Given the description of an element on the screen output the (x, y) to click on. 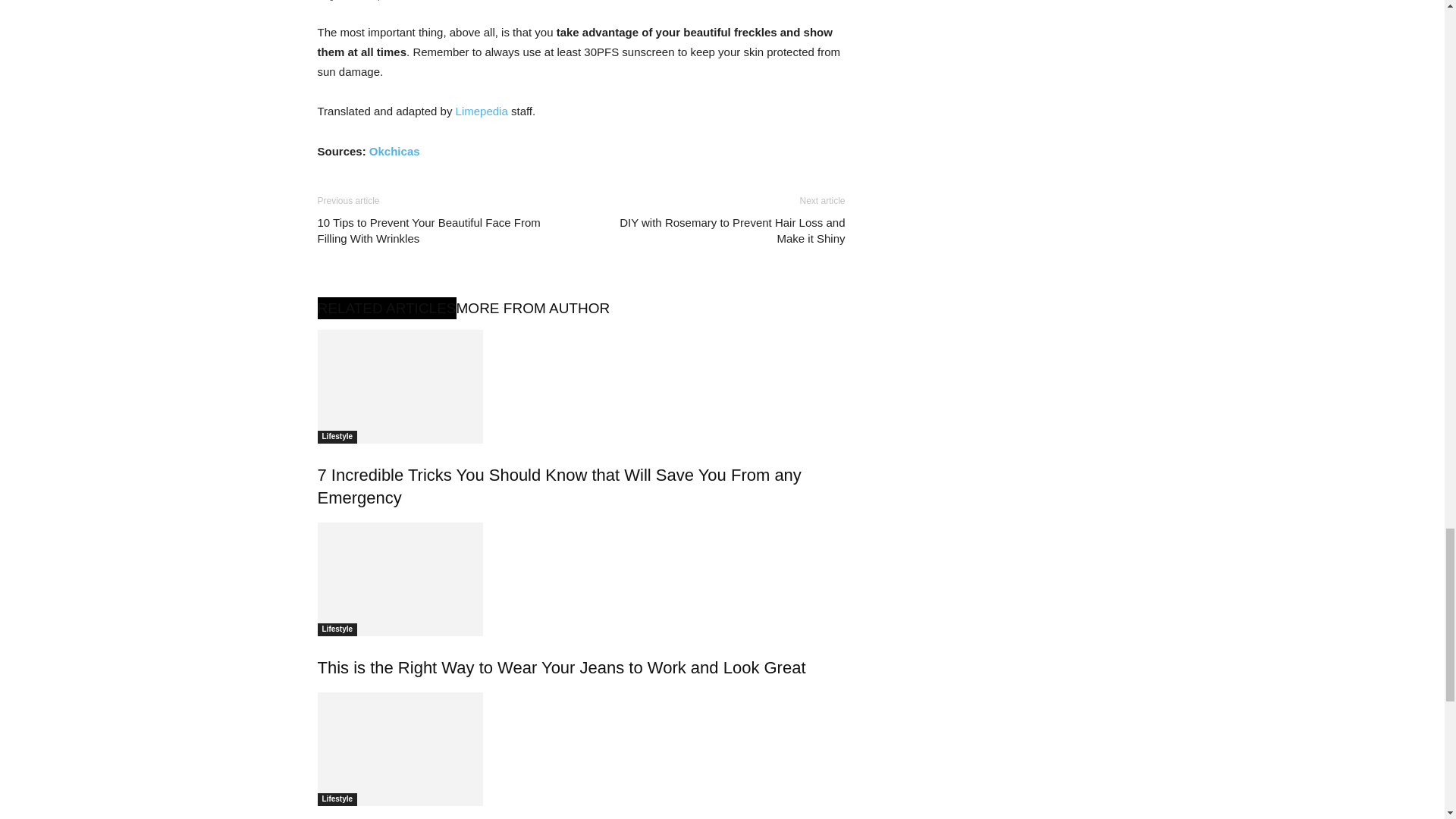
10 Infallible Tips to Wear Heels Throughout the Day (399, 748)
RELATED ARTICLES (386, 308)
Lifestyle (336, 436)
Limepedia (481, 110)
Okchicas (394, 150)
10 Infallible Tips to Wear Heels Throughout the Day (580, 748)
Lifestyle (336, 799)
